Given the description of an element on the screen output the (x, y) to click on. 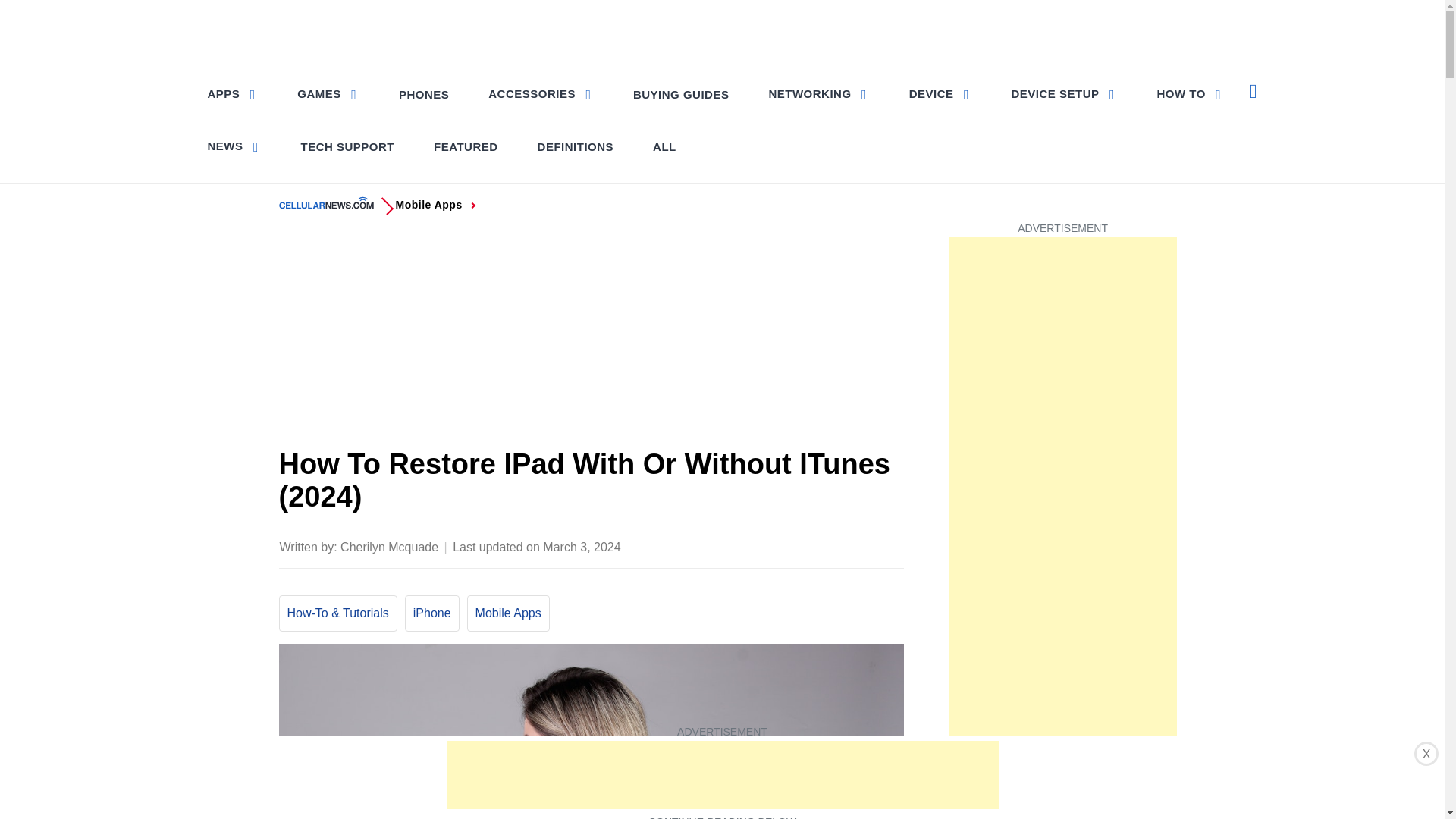
GAMES (327, 93)
Copy to Clipboard (860, 544)
PHONES (424, 94)
Mail the Link (890, 544)
NETWORKING (818, 93)
Share on Pinterest (800, 544)
APPS (233, 93)
Share on Whatsapp (829, 544)
Share on facebook (740, 544)
Share on twitter (769, 544)
ACCESSORIES (540, 93)
DEVICE (940, 93)
BUYING GUIDES (681, 94)
